Given the description of an element on the screen output the (x, y) to click on. 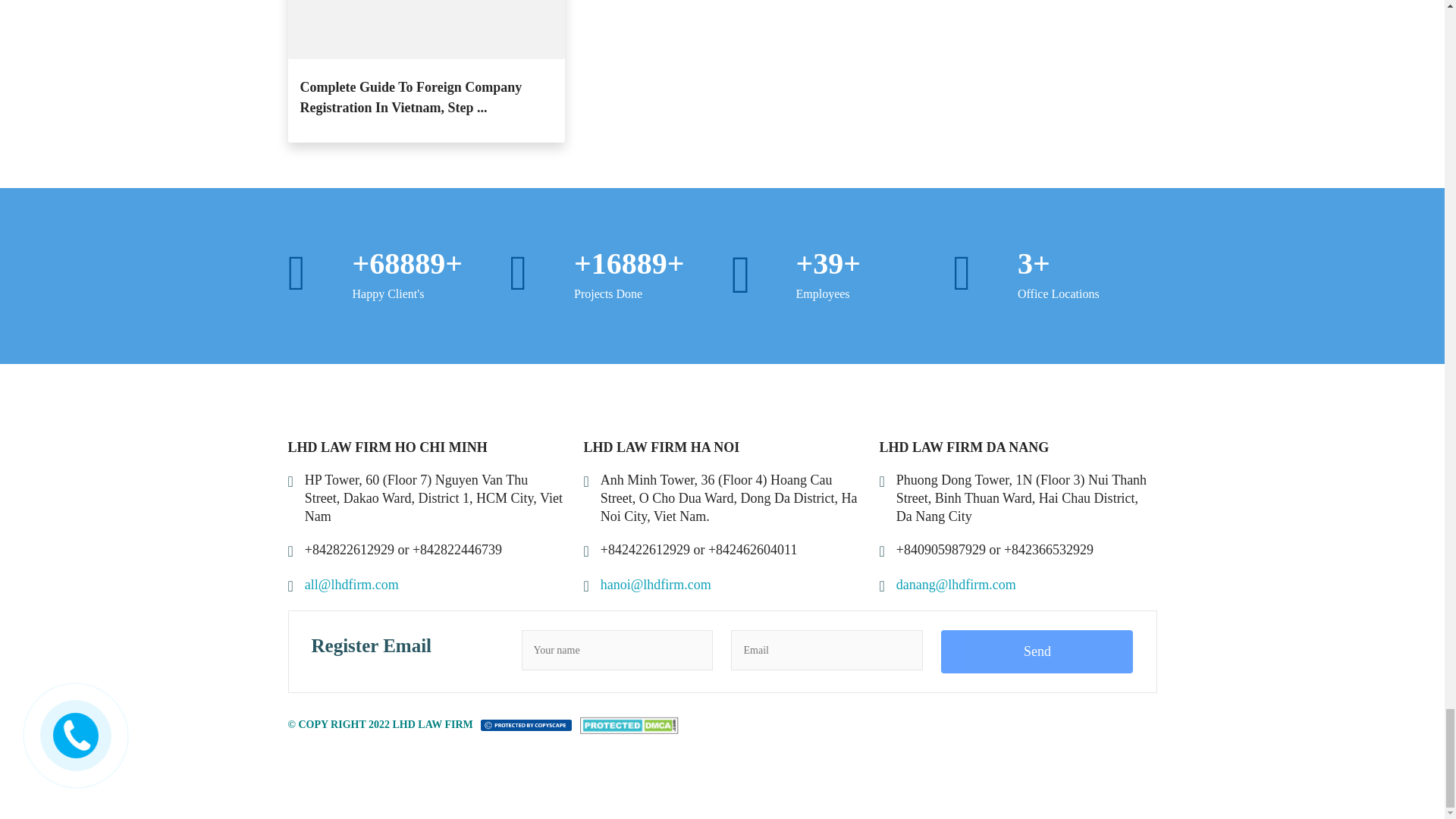
copyscape (526, 724)
